Given the description of an element on the screen output the (x, y) to click on. 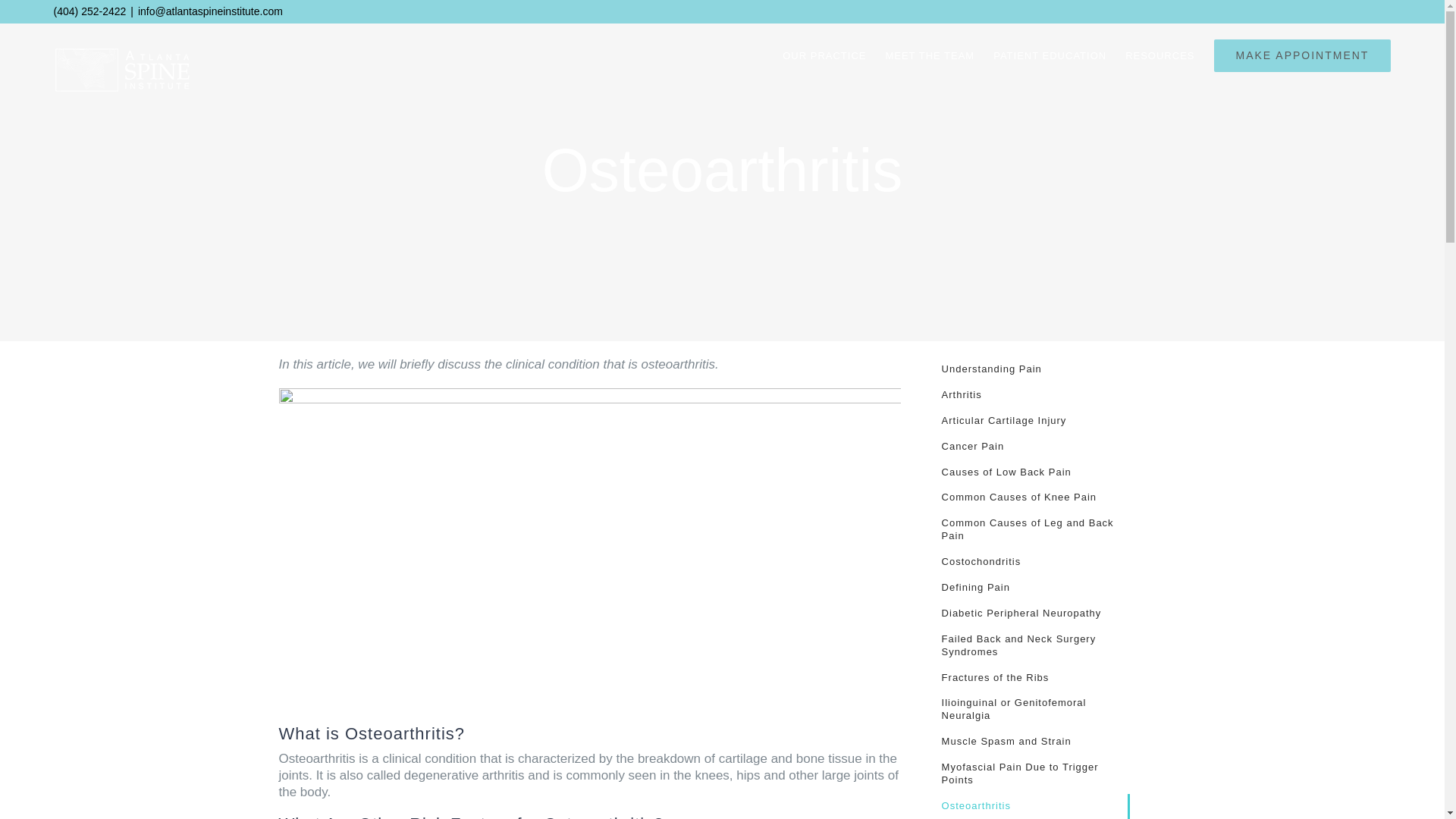
PATIENT EDUCATION (1049, 54)
OUR PRACTICE (824, 54)
MAKE APPOINTMENT (1301, 54)
MEET THE TEAM (929, 54)
Back to Parent Page (1027, 370)
RESOURCES (1159, 54)
